Given the description of an element on the screen output the (x, y) to click on. 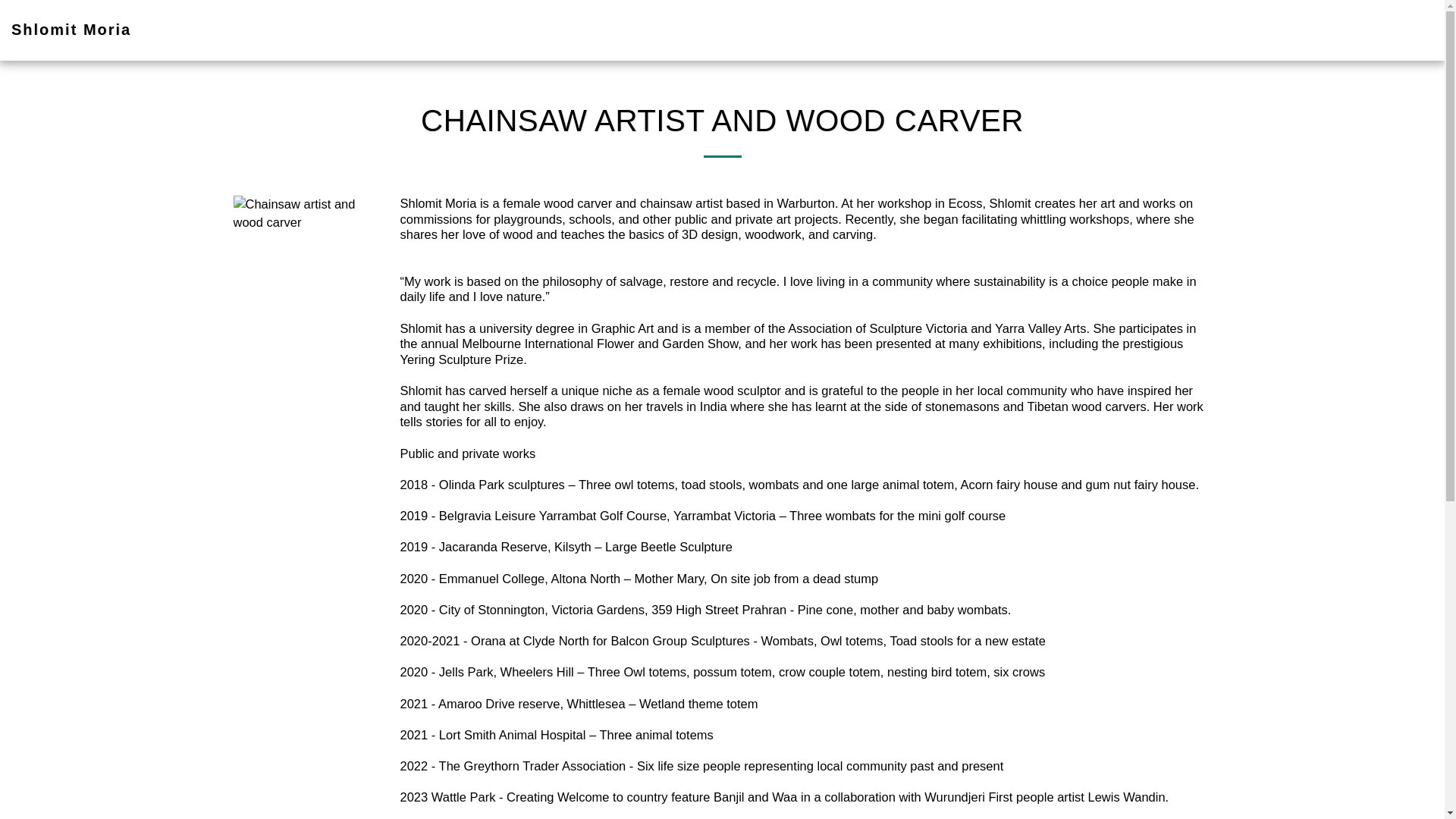
Shlomit Moria (71, 30)
